Given the description of an element on the screen output the (x, y) to click on. 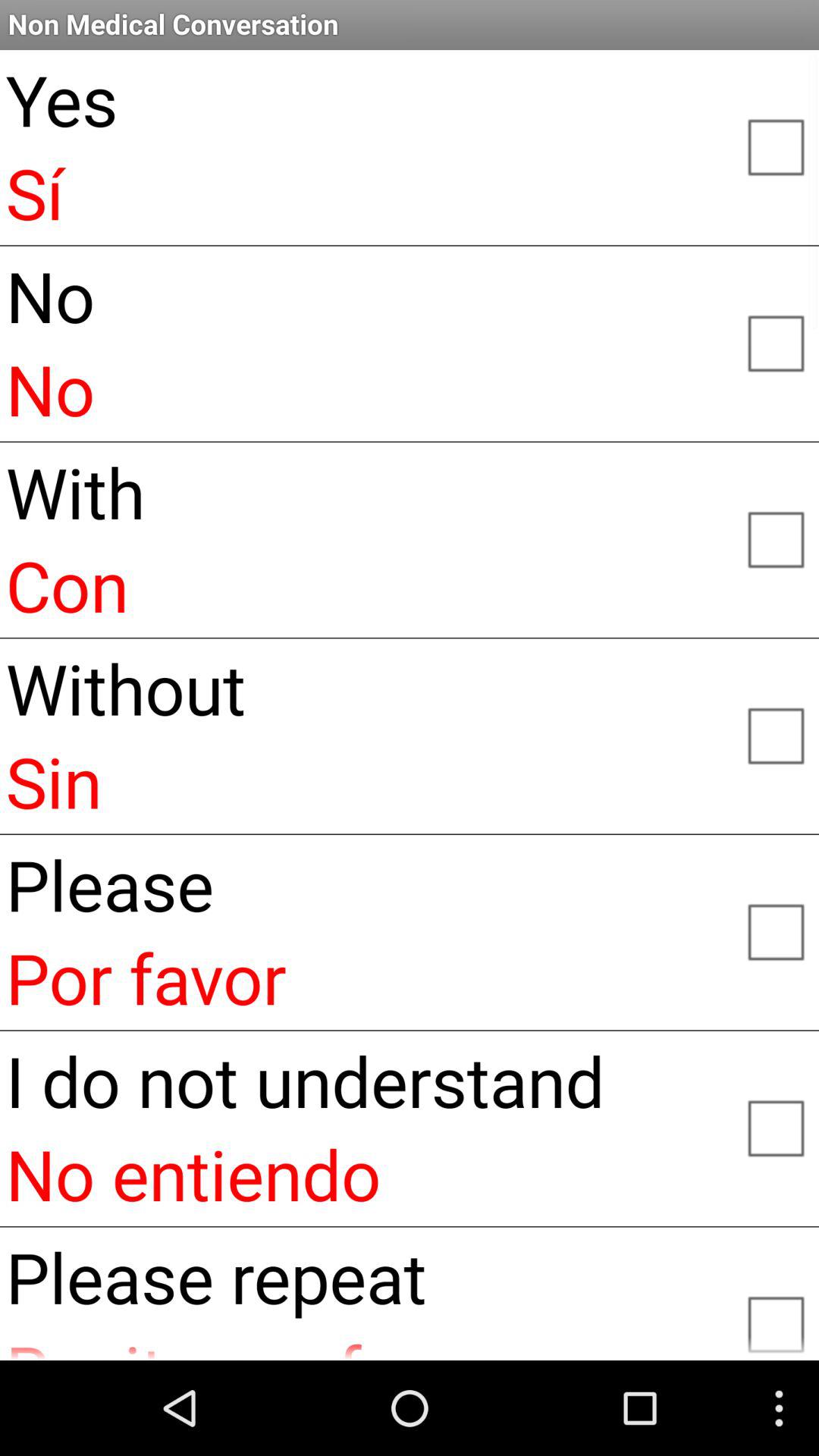
checkbox unchecked (775, 1127)
